Given the description of an element on the screen output the (x, y) to click on. 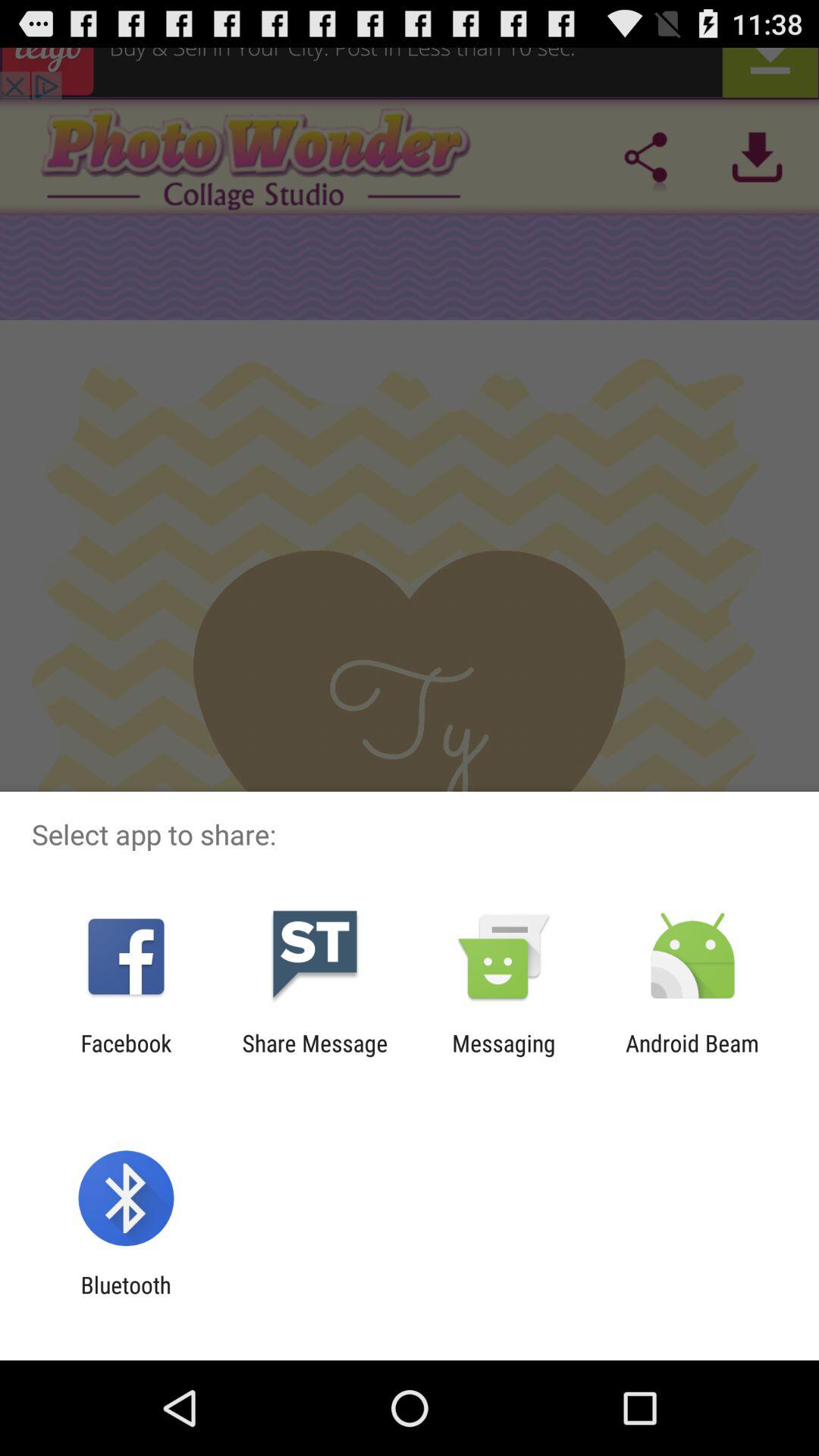
flip to android beam item (692, 1056)
